Given the description of an element on the screen output the (x, y) to click on. 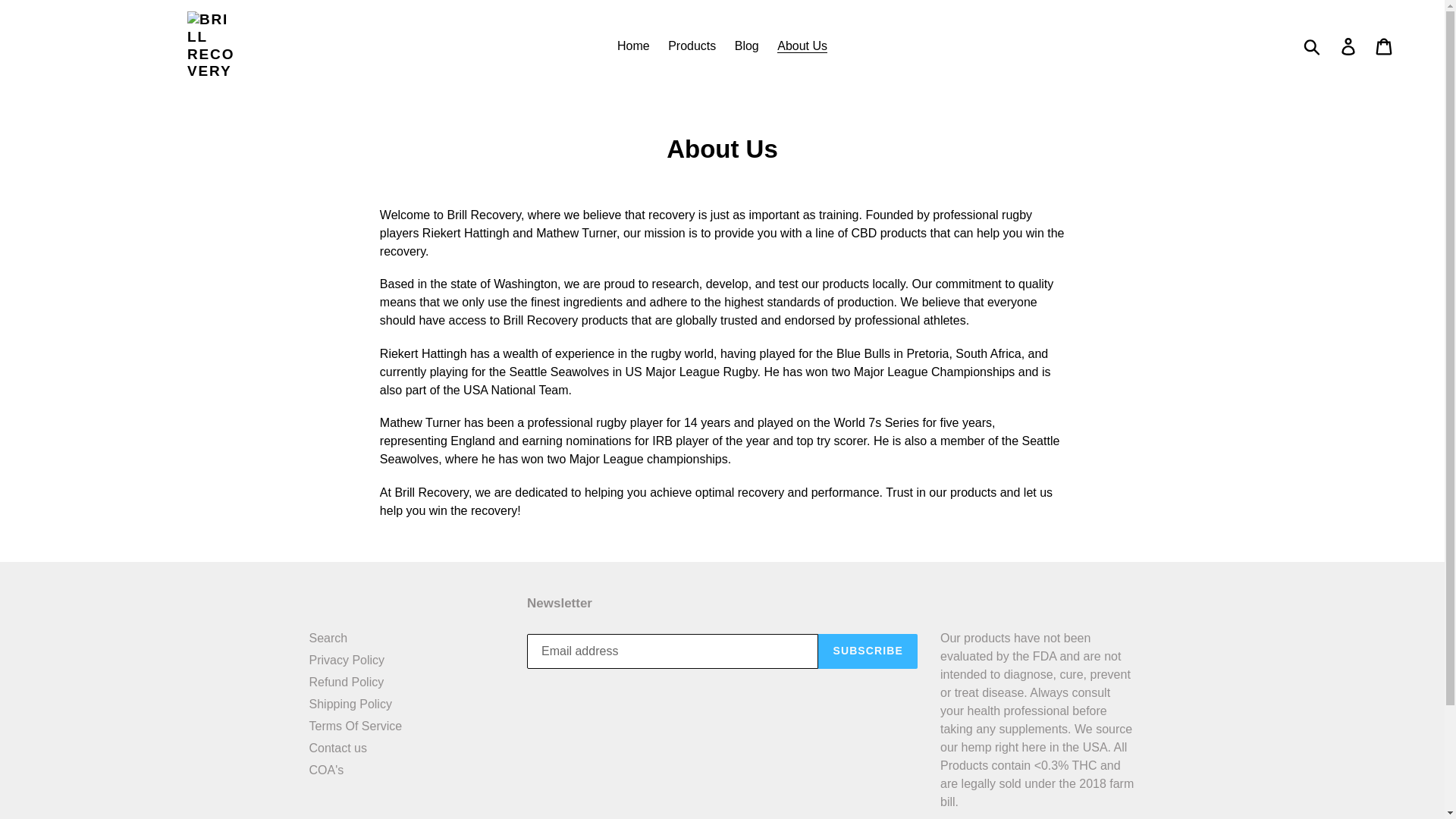
SUBSCRIBE (867, 651)
Blog (746, 46)
Terms Of Service (355, 725)
Log in (1349, 45)
COA's (325, 769)
Privacy Policy (346, 659)
Submit (1313, 46)
Cart (1385, 45)
